Given the description of an element on the screen output the (x, y) to click on. 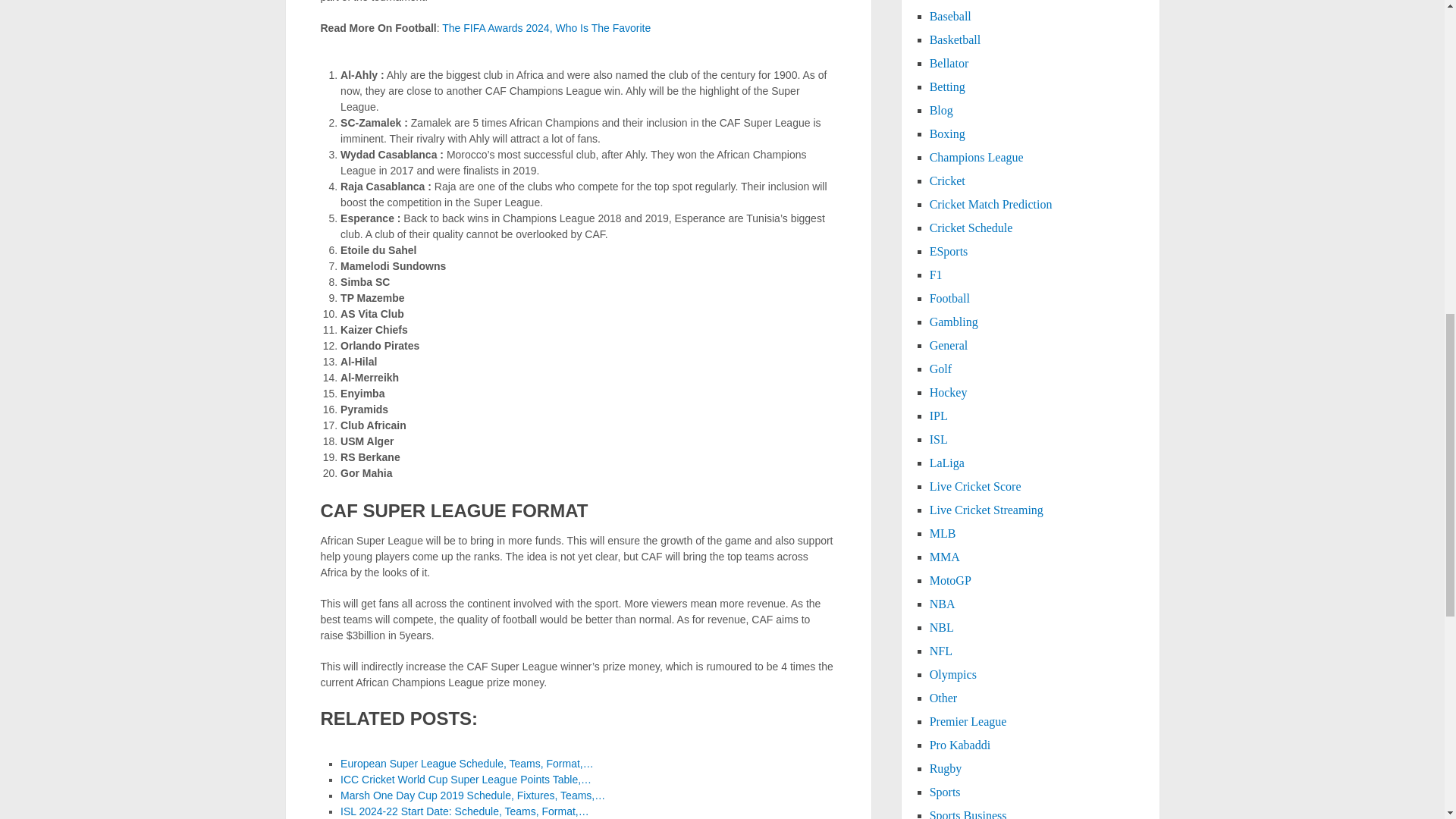
Baseball (950, 15)
Basketball (955, 39)
Cricket Match Prediction (991, 204)
Bellator (949, 62)
Champions League (976, 156)
Cricket (947, 180)
Betting (947, 86)
Boxing (947, 133)
The FIFA Awards 2024, Who Is The Favorite (546, 28)
Blog (941, 110)
